Given the description of an element on the screen output the (x, y) to click on. 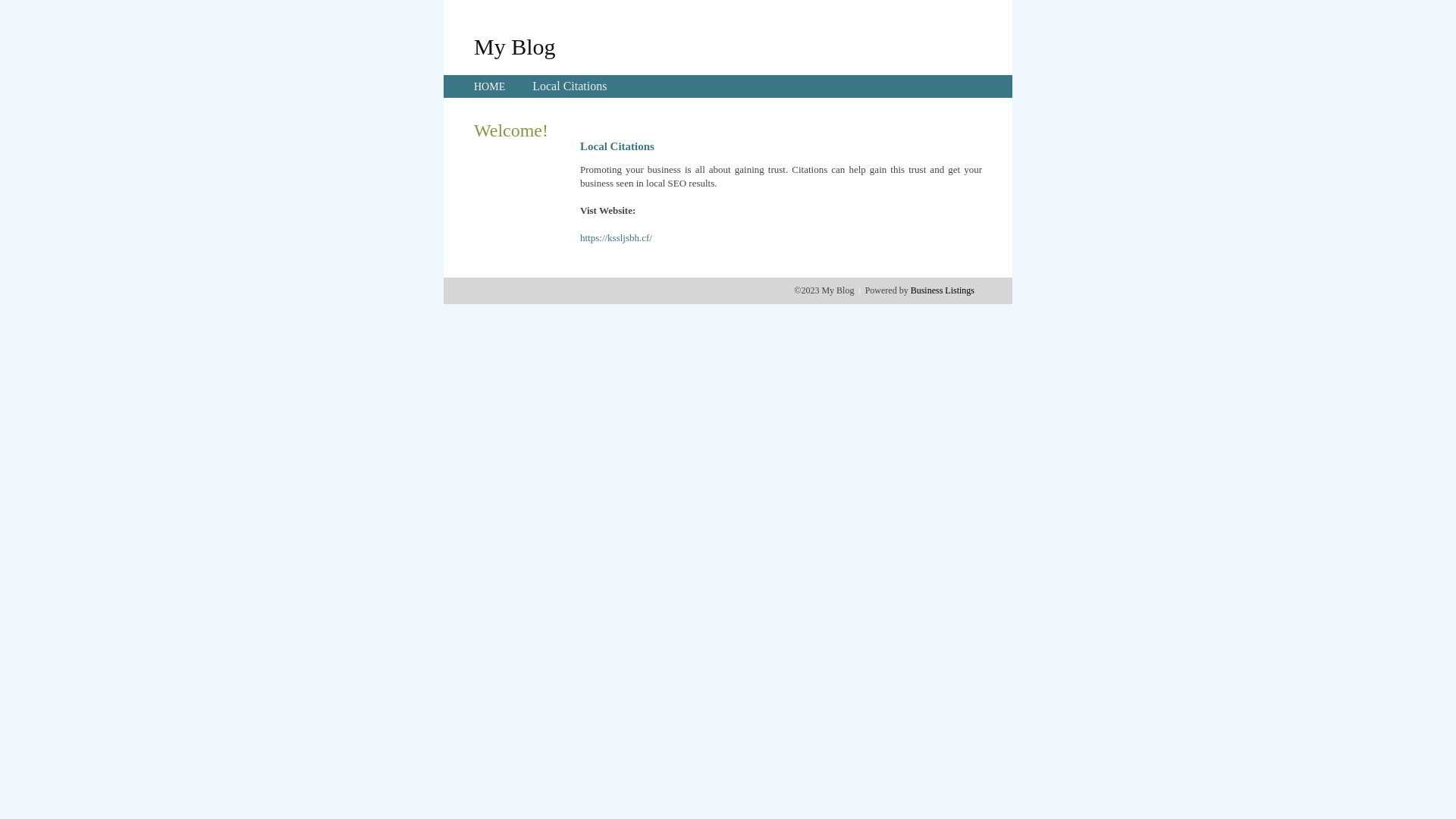
https://kssljsbh.cf/ Element type: text (616, 237)
Local Citations Element type: text (569, 85)
Business Listings Element type: text (942, 290)
My Blog Element type: text (514, 46)
HOME Element type: text (489, 86)
